Given the description of an element on the screen output the (x, y) to click on. 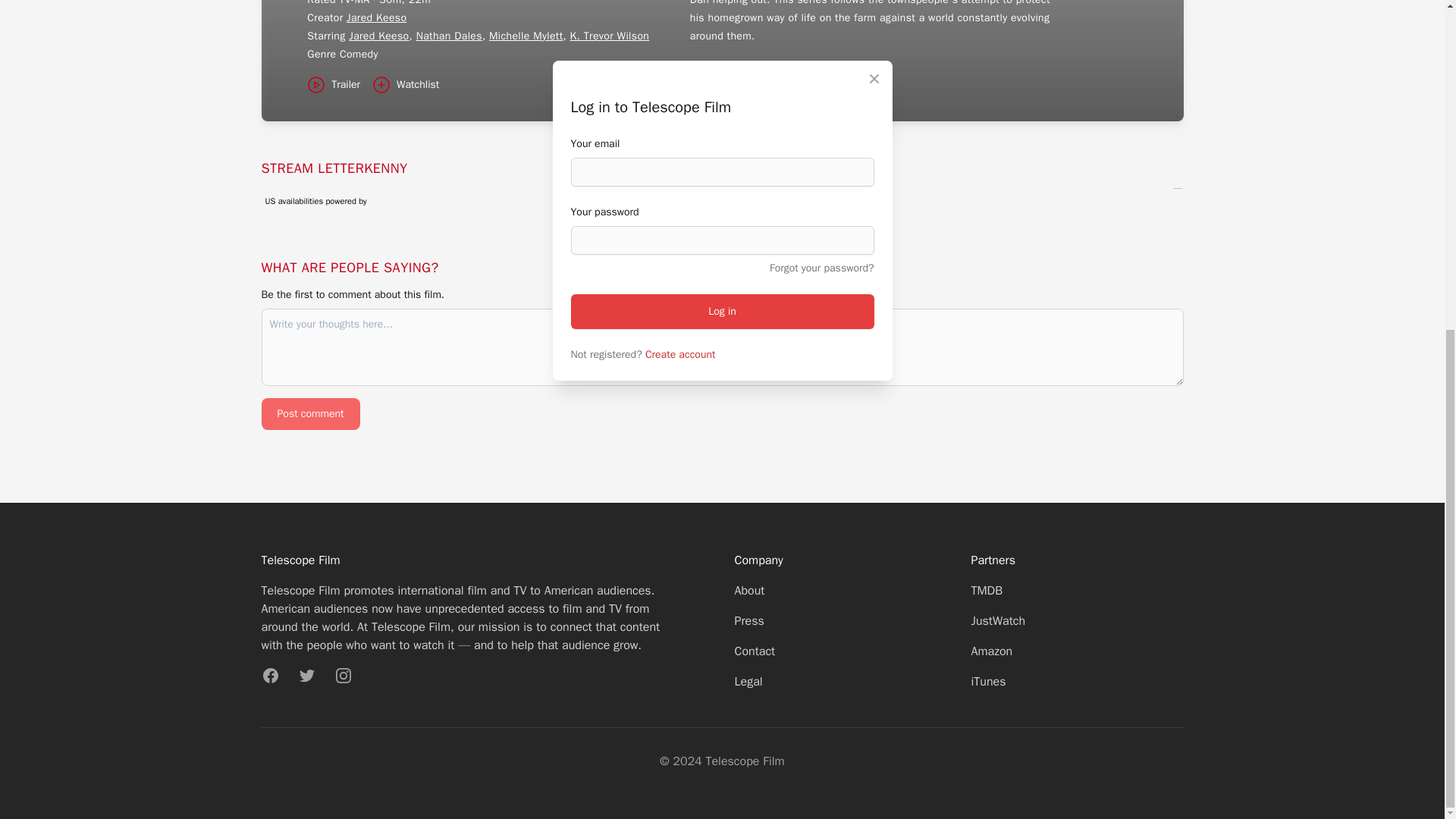
Post comment (309, 413)
